Given the description of an element on the screen output the (x, y) to click on. 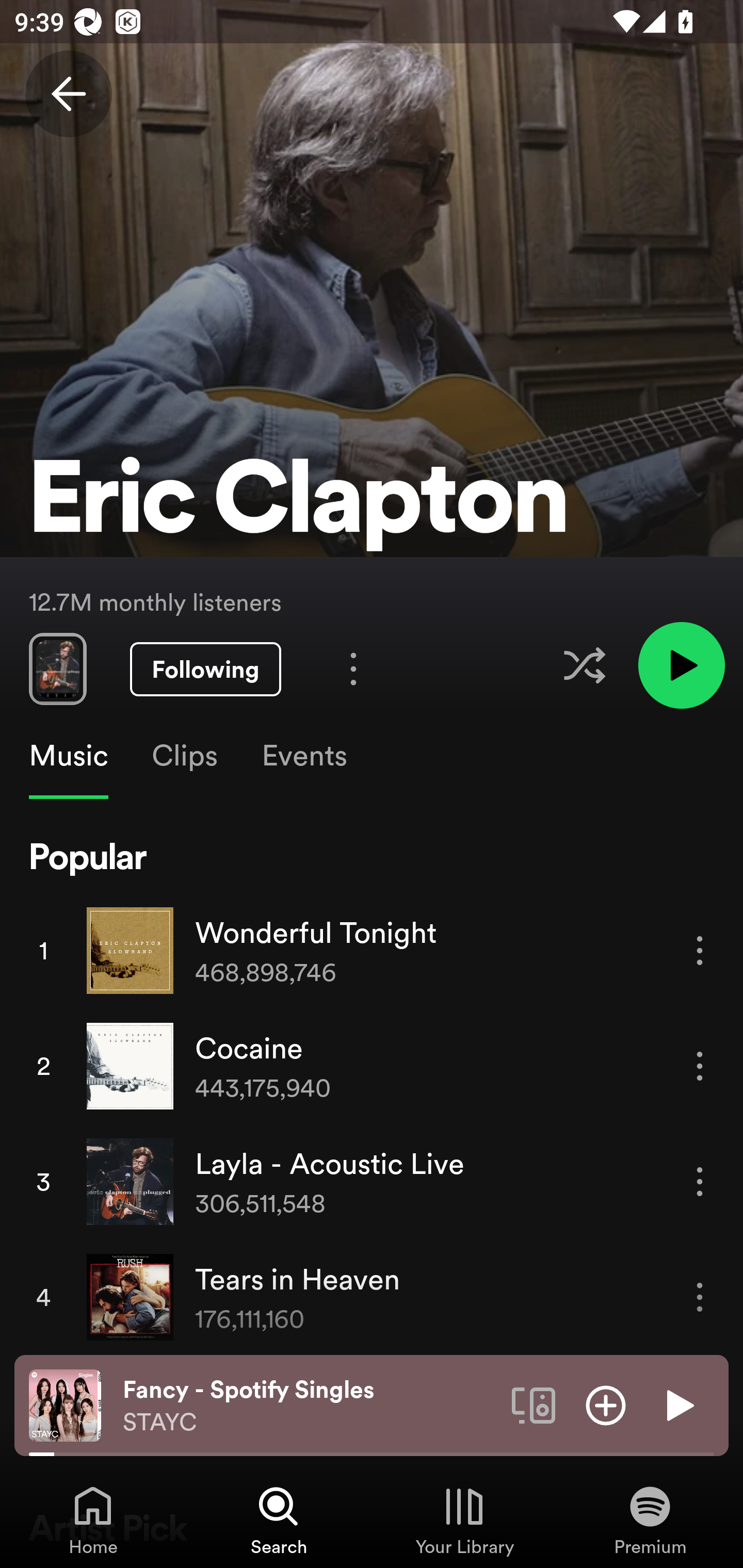
Back (68, 93)
Play artist (681, 664)
Enable shuffle for this artist (583, 665)
Swipe through previews of tracks from this artist. (57, 668)
More options for artist Eric Clapton (352, 668)
Following Unfollow (205, 669)
Clips (184, 755)
Events (303, 755)
More options for song Wonderful Tonight (699, 950)
More options for song Cocaine (699, 1066)
More options for song Layla - Acoustic Live (699, 1181)
More options for song Tears in Heaven (699, 1297)
Fancy - Spotify Singles STAYC (309, 1405)
The cover art of the currently playing track (64, 1404)
Connect to a device. Opens the devices menu (533, 1404)
Add item (605, 1404)
Play (677, 1404)
Home, Tab 1 of 4 Home Home (92, 1519)
Search, Tab 2 of 4 Search Search (278, 1519)
Your Library, Tab 3 of 4 Your Library Your Library (464, 1519)
Premium, Tab 4 of 4 Premium Premium (650, 1519)
